Given the description of an element on the screen output the (x, y) to click on. 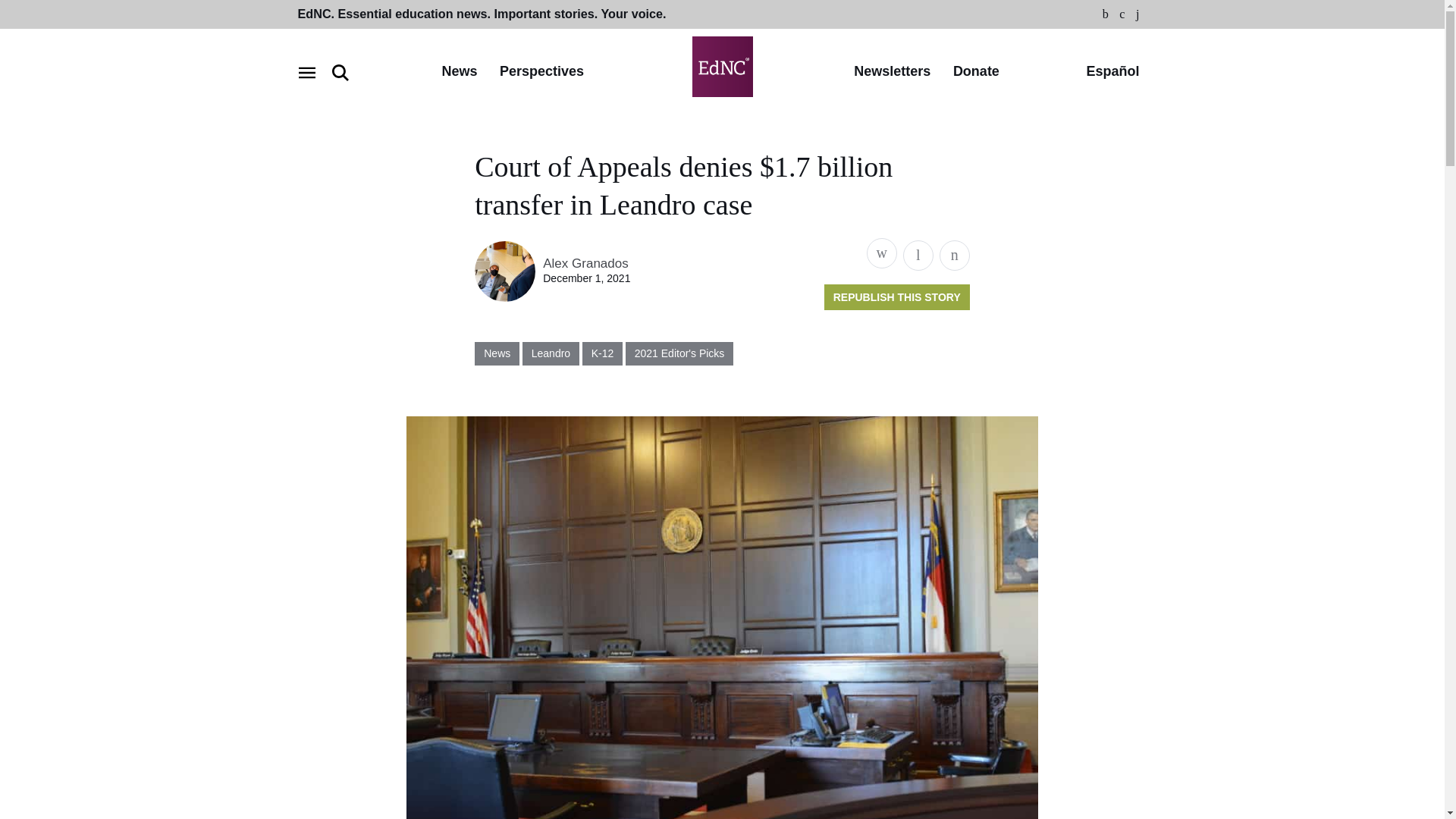
Donate (975, 71)
Perspectives (541, 71)
Open navigation (306, 72)
Newsletters (891, 71)
Alex Granados (585, 263)
Share this page (881, 253)
News (459, 71)
